Given the description of an element on the screen output the (x, y) to click on. 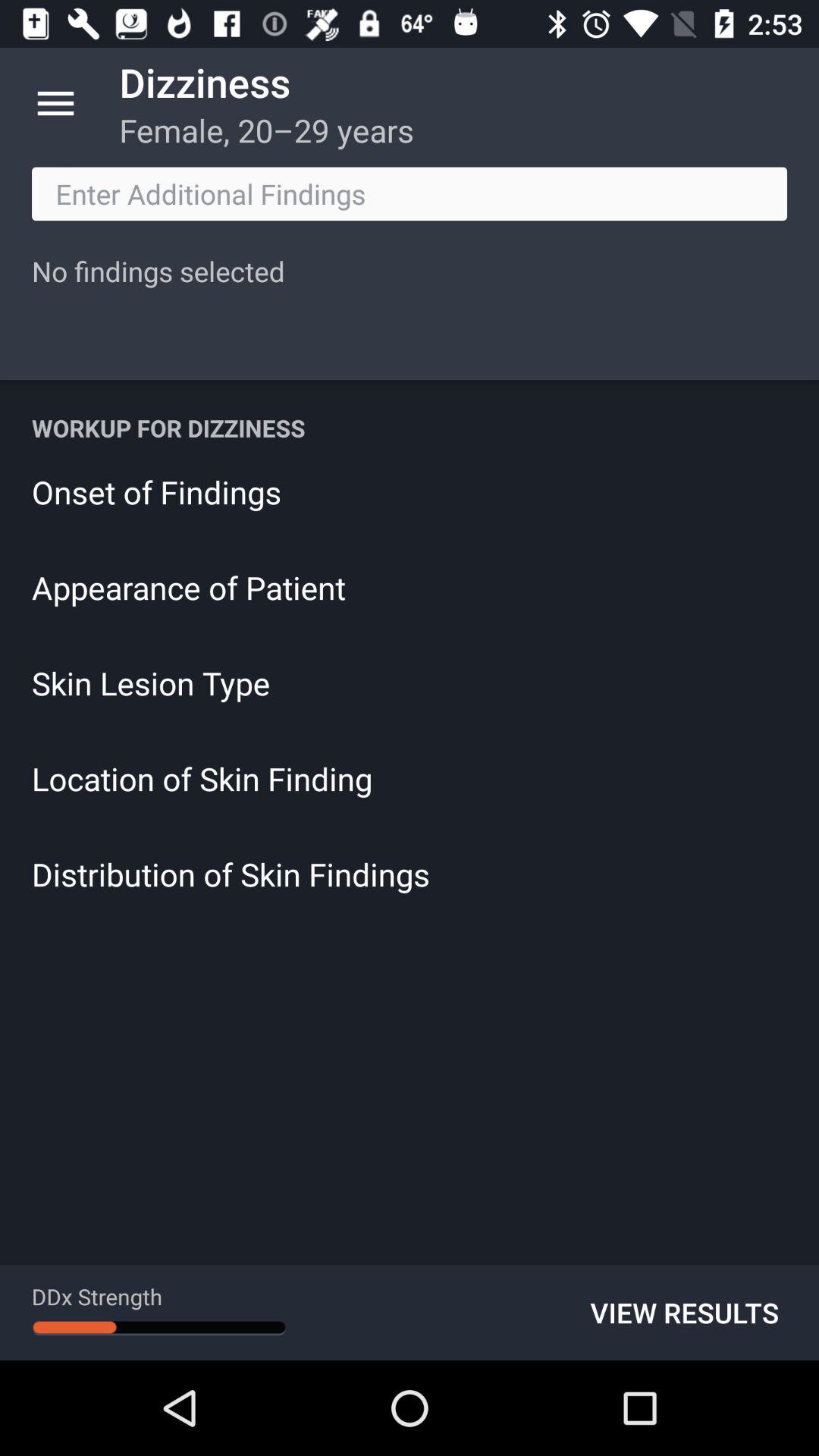
turn off workup for dizziness icon (409, 427)
